Given the description of an element on the screen output the (x, y) to click on. 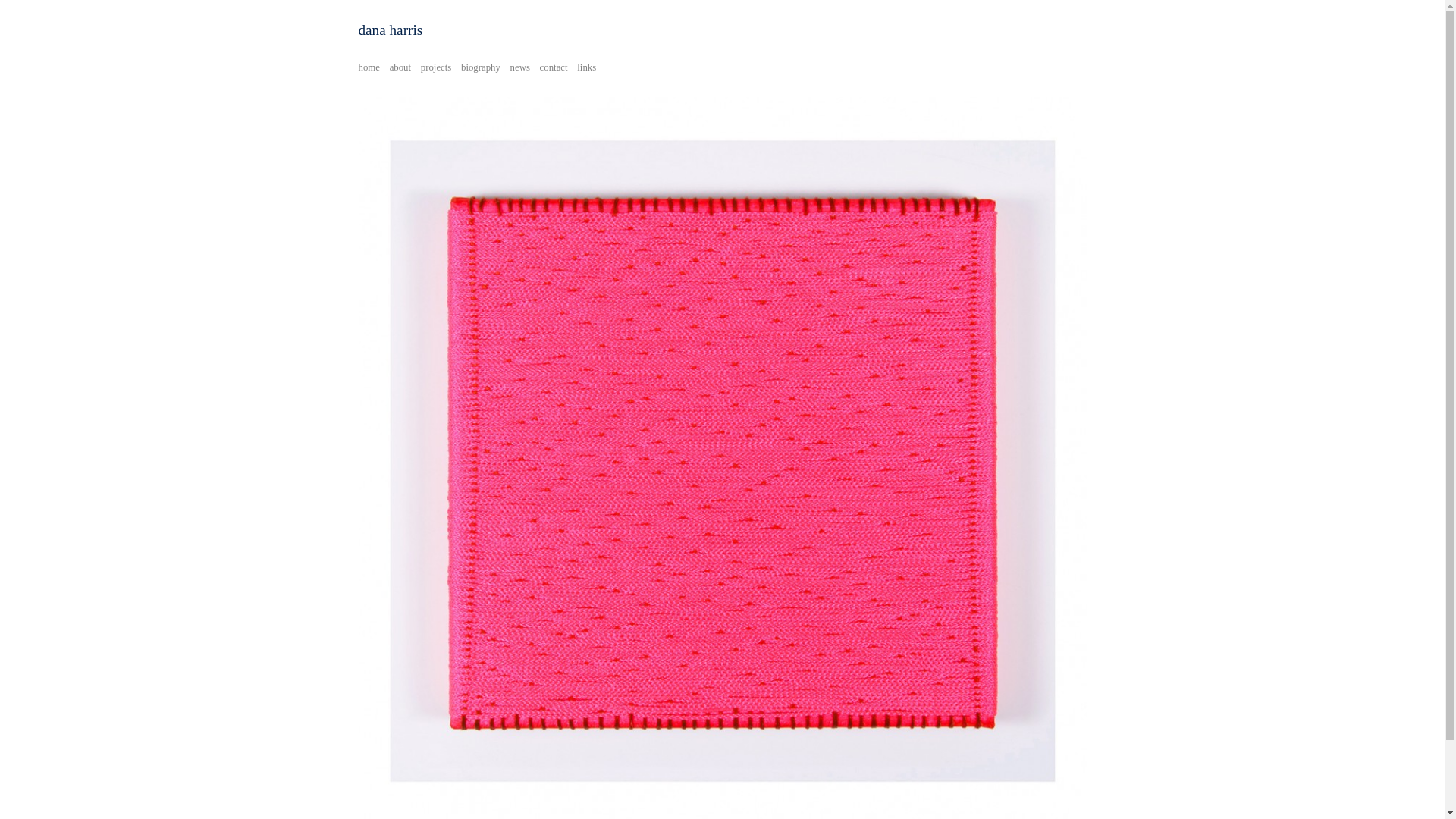
projects Element type: text (435, 67)
biography Element type: text (480, 67)
about Element type: text (400, 67)
links Element type: text (586, 67)
news Element type: text (520, 67)
home Element type: text (368, 67)
contact Element type: text (553, 67)
